Given the description of an element on the screen output the (x, y) to click on. 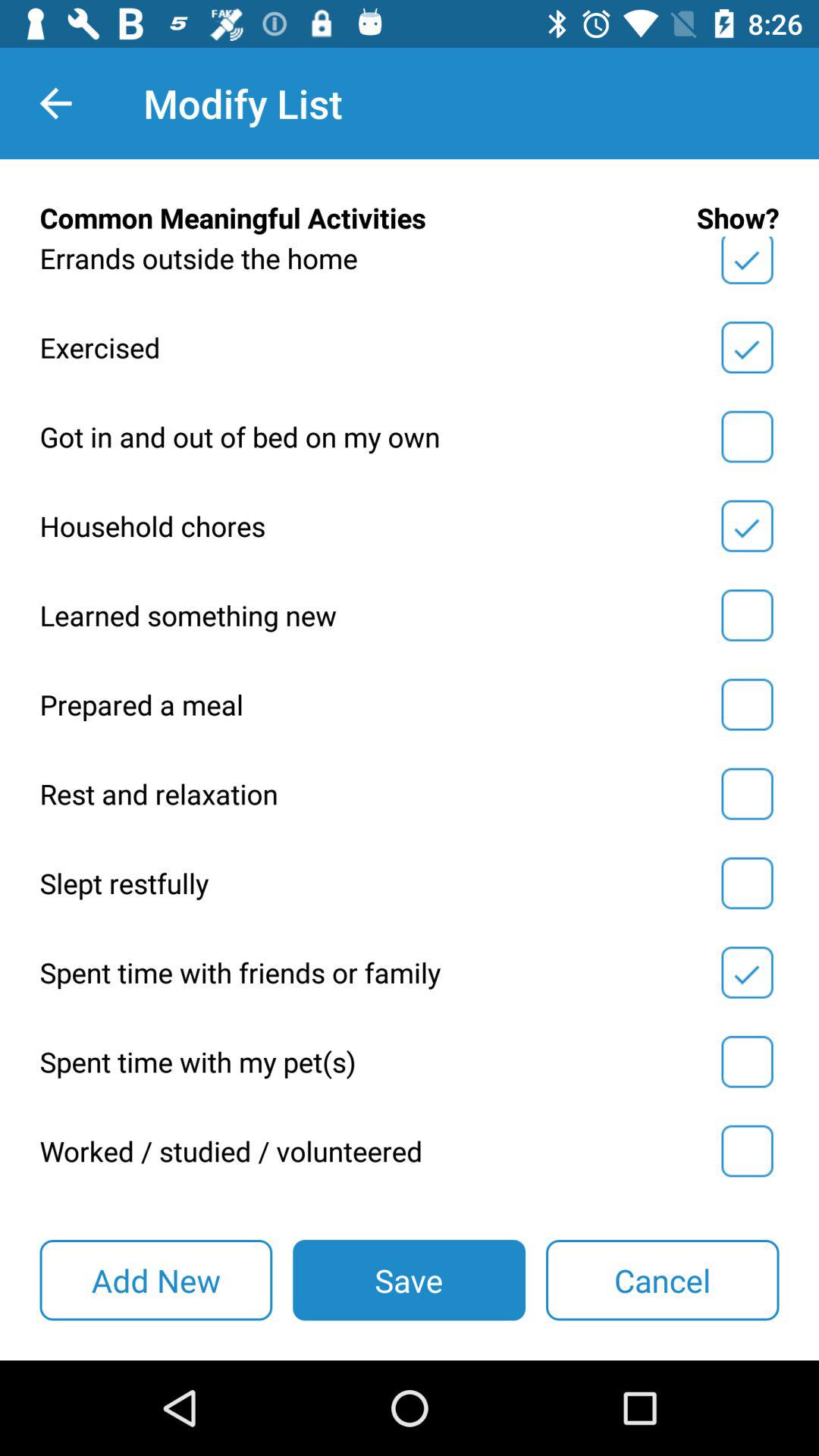
check it for completed activities (747, 883)
